Given the description of an element on the screen output the (x, y) to click on. 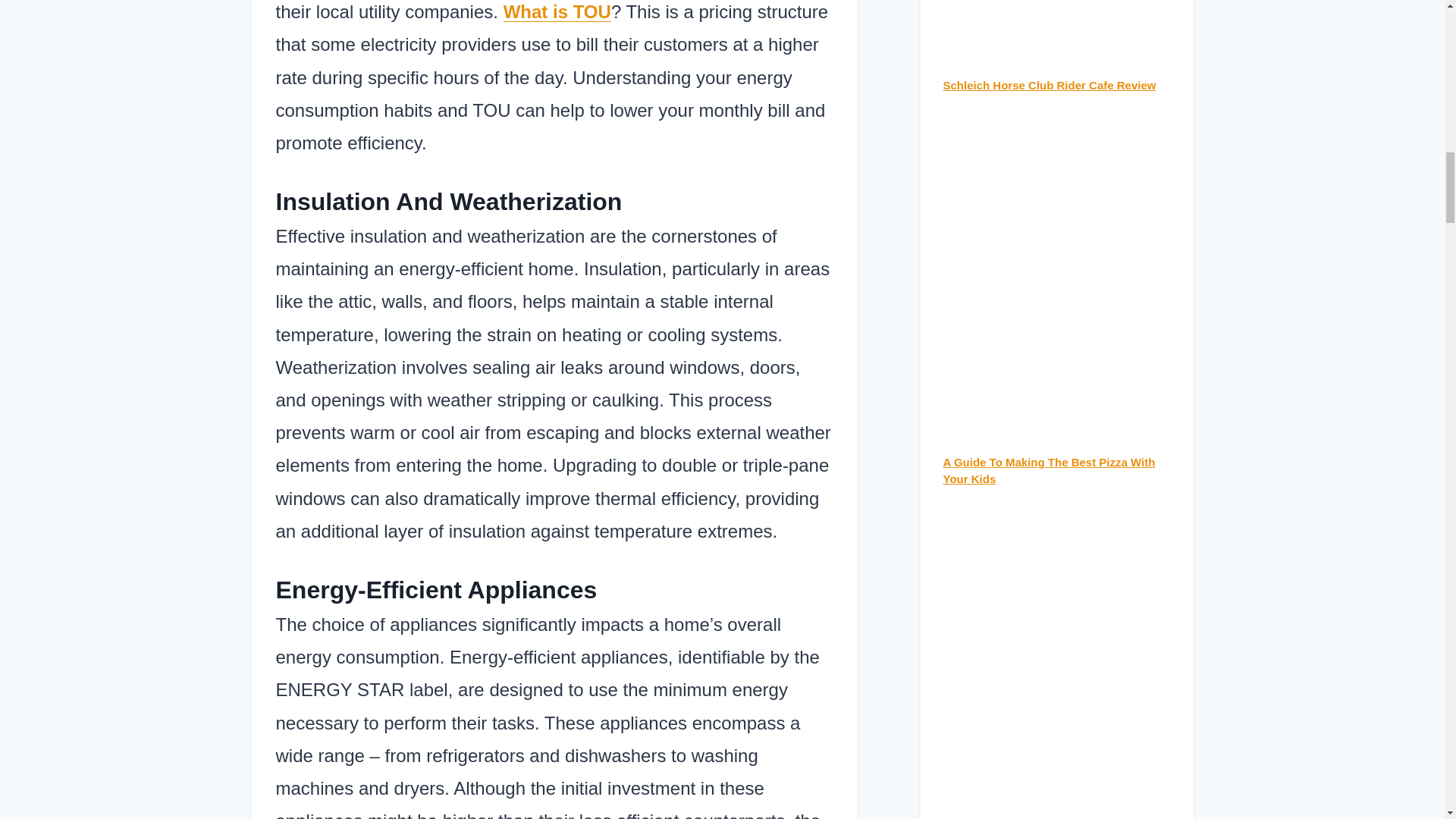
What is TOU (557, 11)
